Given the description of an element on the screen output the (x, y) to click on. 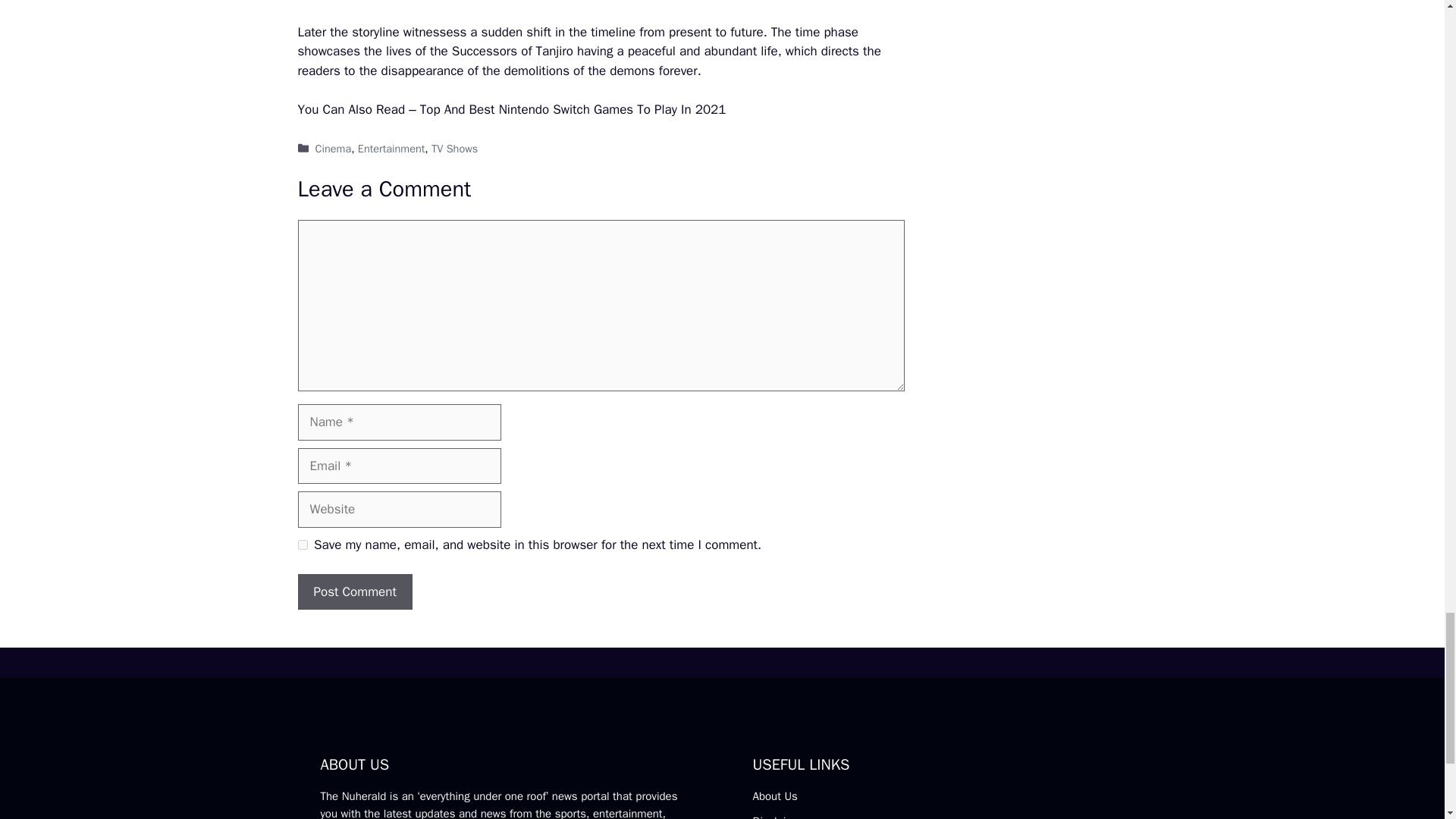
Post Comment (354, 592)
yes (302, 544)
Post Comment (354, 592)
Entertainment (391, 148)
Top And Best Nintendo Switch Games To Play In 2021 (573, 109)
About Us (774, 796)
Disclaimer (778, 816)
TV Shows (453, 148)
Cinema (333, 148)
